Given the description of an element on the screen output the (x, y) to click on. 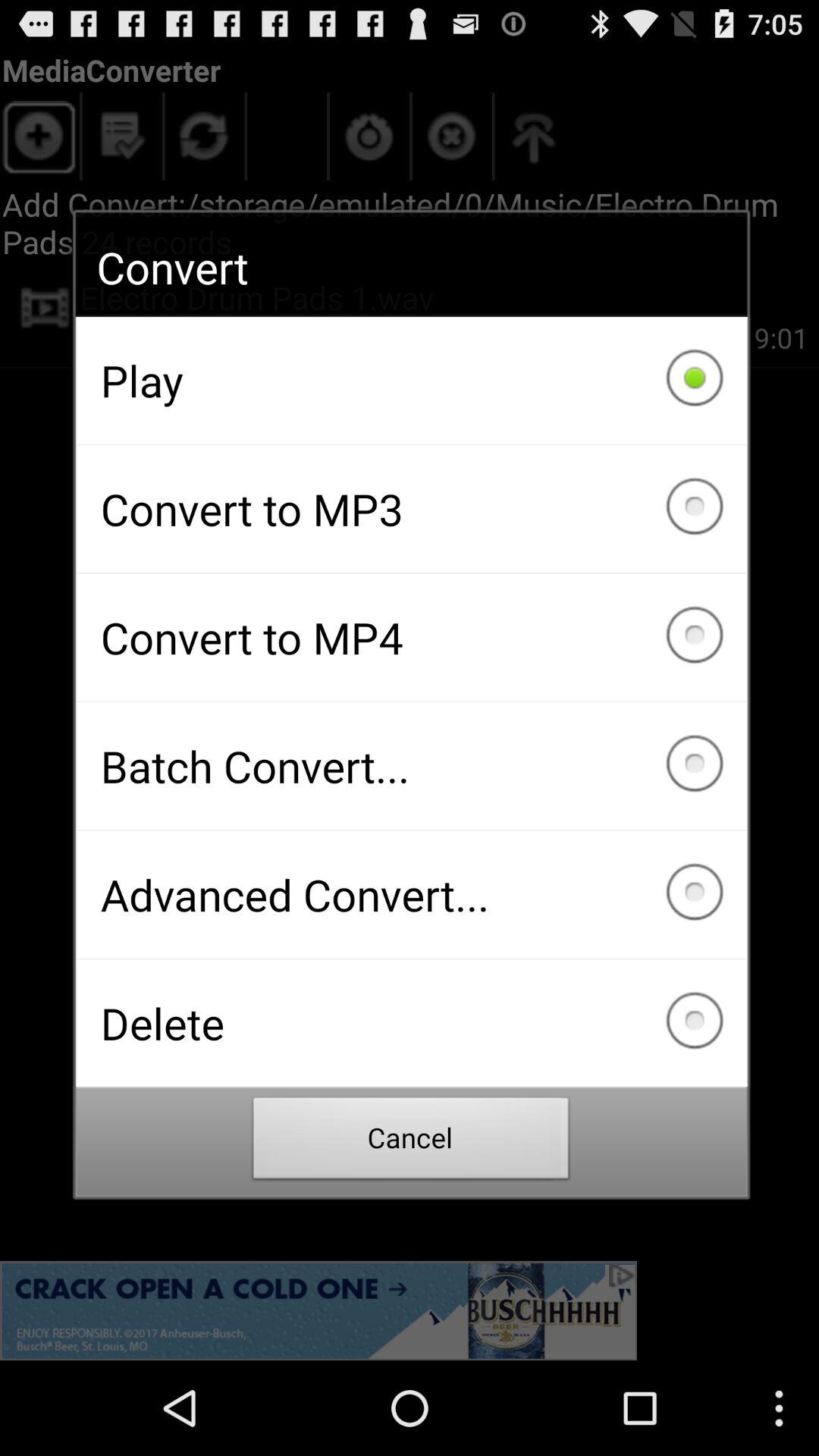
jump until the cancel item (410, 1142)
